Given the description of an element on the screen output the (x, y) to click on. 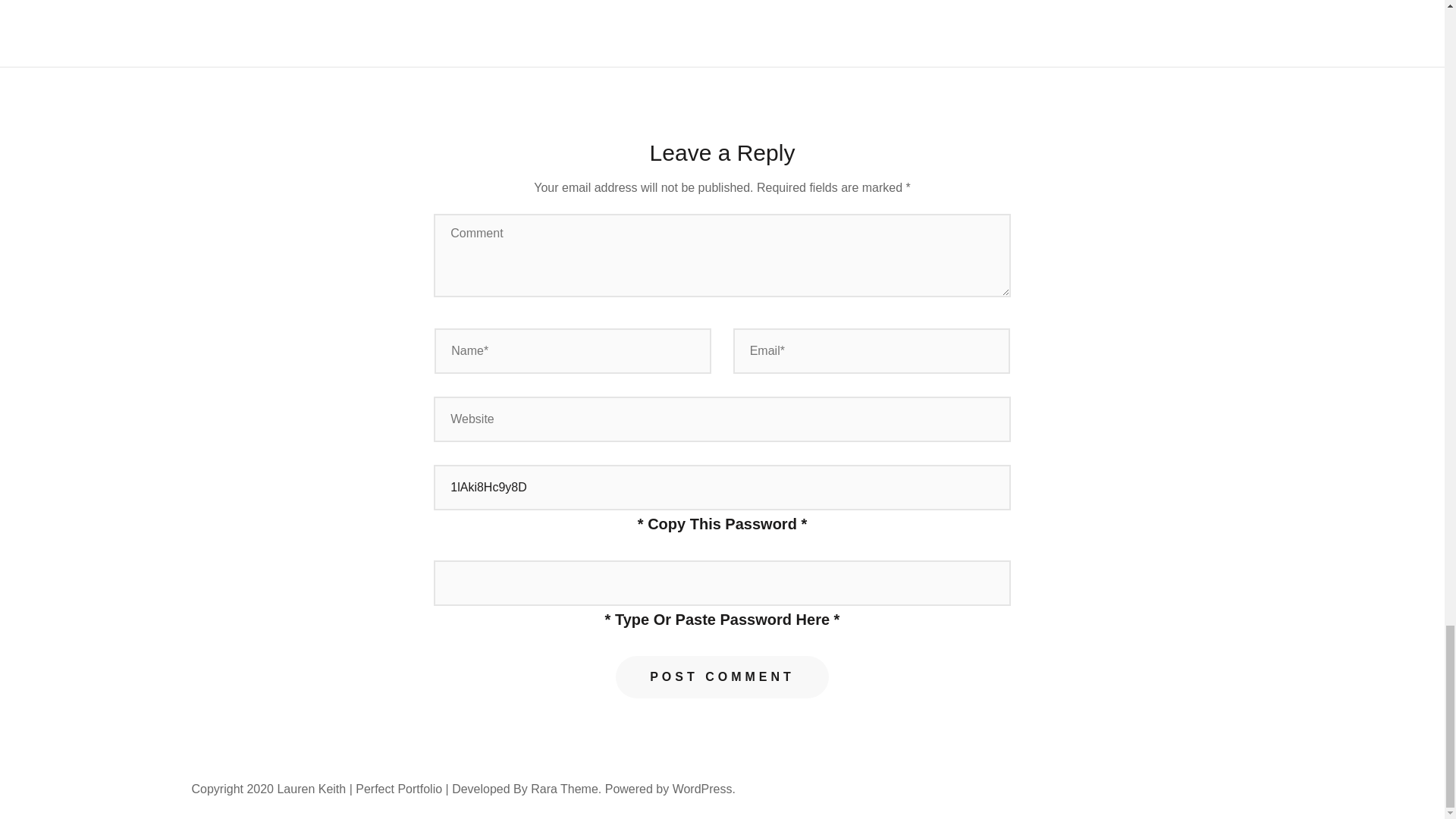
1lAki8Hc9y8D (721, 487)
Rara Theme (564, 788)
Post Comment (721, 677)
WordPress (702, 788)
Post Comment (721, 677)
